Given the description of an element on the screen output the (x, y) to click on. 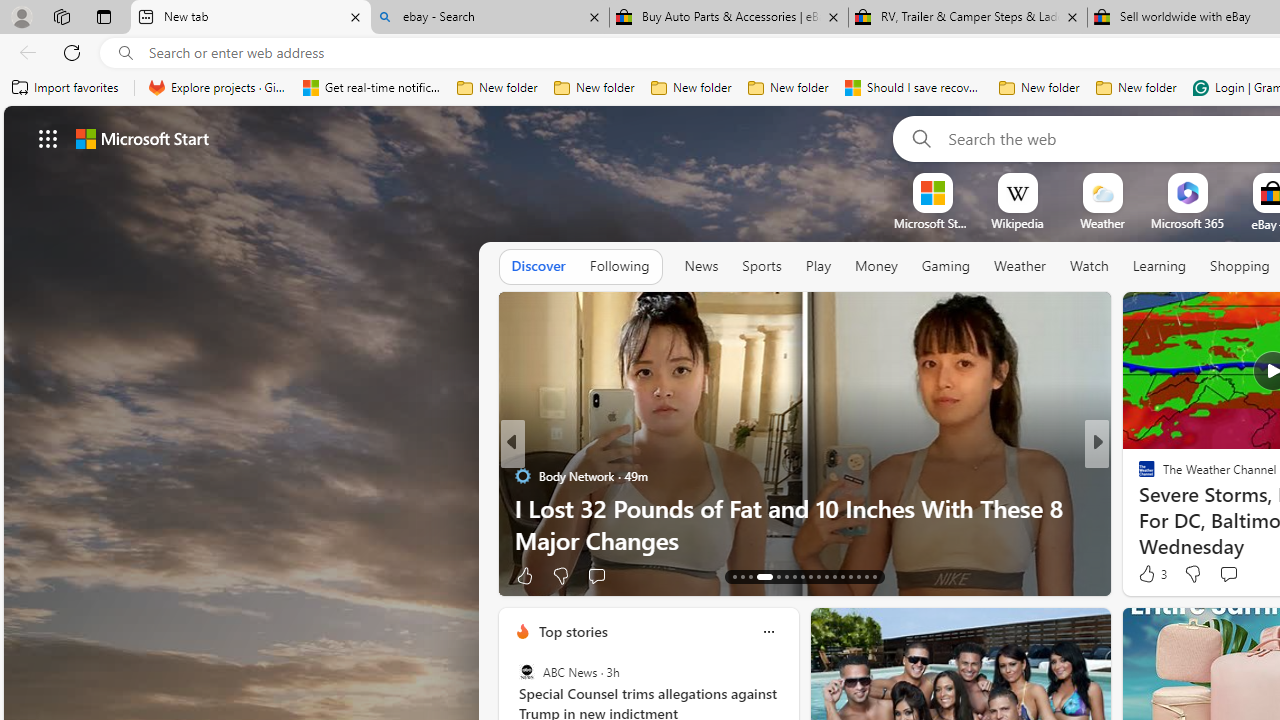
Start the conversation (1227, 574)
13 Like (1149, 574)
App launcher (47, 138)
353 Like (1151, 574)
USA TODAY (1138, 475)
102 Like (1151, 574)
View comments 1 Comment (1234, 575)
Money (875, 265)
AutomationID: tab-13 (733, 576)
AutomationID: tab-23 (825, 576)
Watch (1089, 265)
Gaming (945, 267)
3 Like (1151, 574)
Weather (1019, 267)
